Given the description of an element on the screen output the (x, y) to click on. 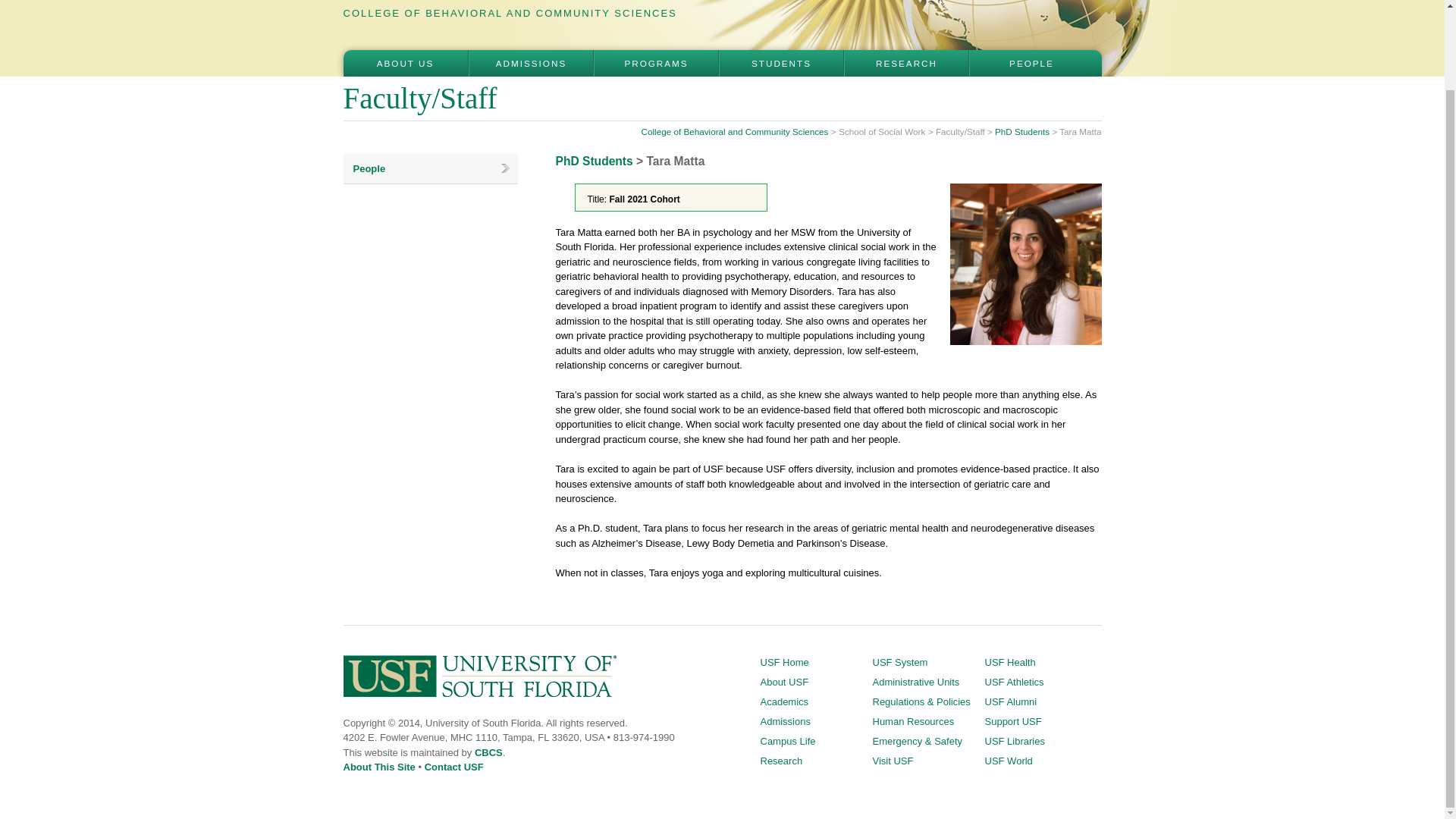
PROGRAMS (654, 62)
Regulations (920, 701)
PhD Students (592, 160)
RESEARCH (905, 62)
Campus Life (787, 740)
USF System (899, 662)
USF World (1008, 760)
USF Libraries (1013, 740)
Administrative Units (915, 681)
USF Athletics (1013, 681)
Admissions (784, 721)
USF Athletics (1013, 681)
USF Alumni (1010, 701)
Research (781, 760)
People (429, 168)
